Given the description of an element on the screen output the (x, y) to click on. 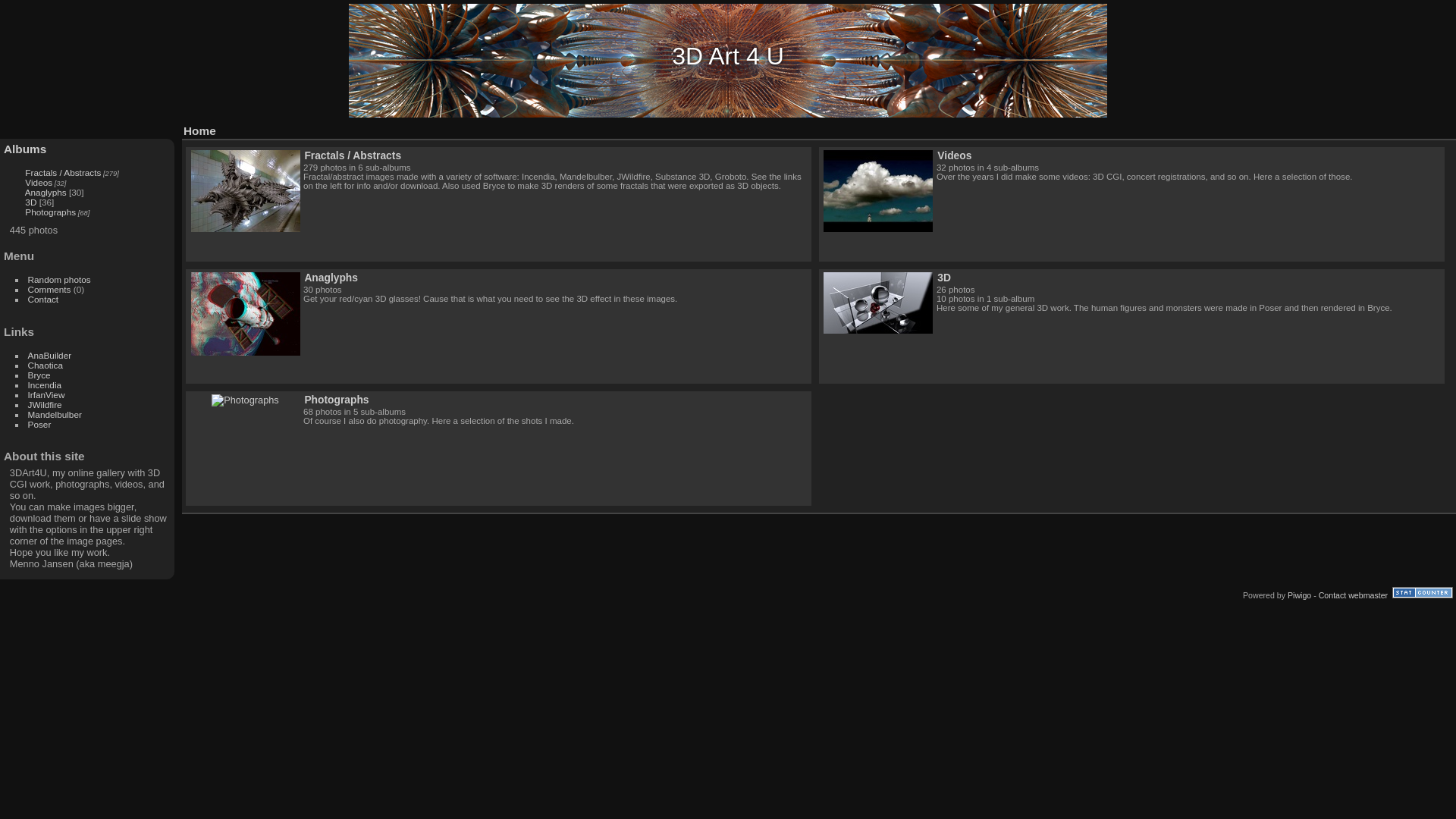
3D - display this album Element type: hover (877, 302)
Comments Element type: text (49, 289)
Random photos Element type: text (59, 279)
Albums Element type: text (24, 148)
AnaBuilder Element type: text (50, 355)
Poser Element type: text (39, 424)
Anaglyphs Element type: text (45, 192)
Mandelbulber Element type: text (54, 414)
Fractals / Abstracts - display this album Element type: hover (245, 191)
Fractals / Abstracts Element type: text (62, 172)
IrfanView Element type: text (46, 394)
Fractals / Abstracts Element type: text (352, 155)
Videos - display this album Element type: hover (877, 191)
3D Element type: text (943, 277)
Contact Element type: text (43, 299)
Chaotica Element type: text (45, 365)
  Element type: text (1444, 127)
Photographs Element type: text (336, 399)
Videos Element type: text (38, 182)
3D Element type: text (30, 202)
Language Element type: hover (1444, 127)
Contact webmaster Element type: text (1352, 594)
Bryce Element type: text (39, 374)
JWildfire Element type: text (45, 404)
Piwigo Element type: text (1299, 594)
Photographs Element type: text (50, 211)
Incendia Element type: text (44, 384)
Anaglyphs Element type: text (330, 277)
Videos Element type: text (954, 155)
Photographs - display this album Element type: hover (245, 400)
Anaglyphs - display this album Element type: hover (245, 313)
Home Element type: text (199, 130)
